Given the description of an element on the screen output the (x, y) to click on. 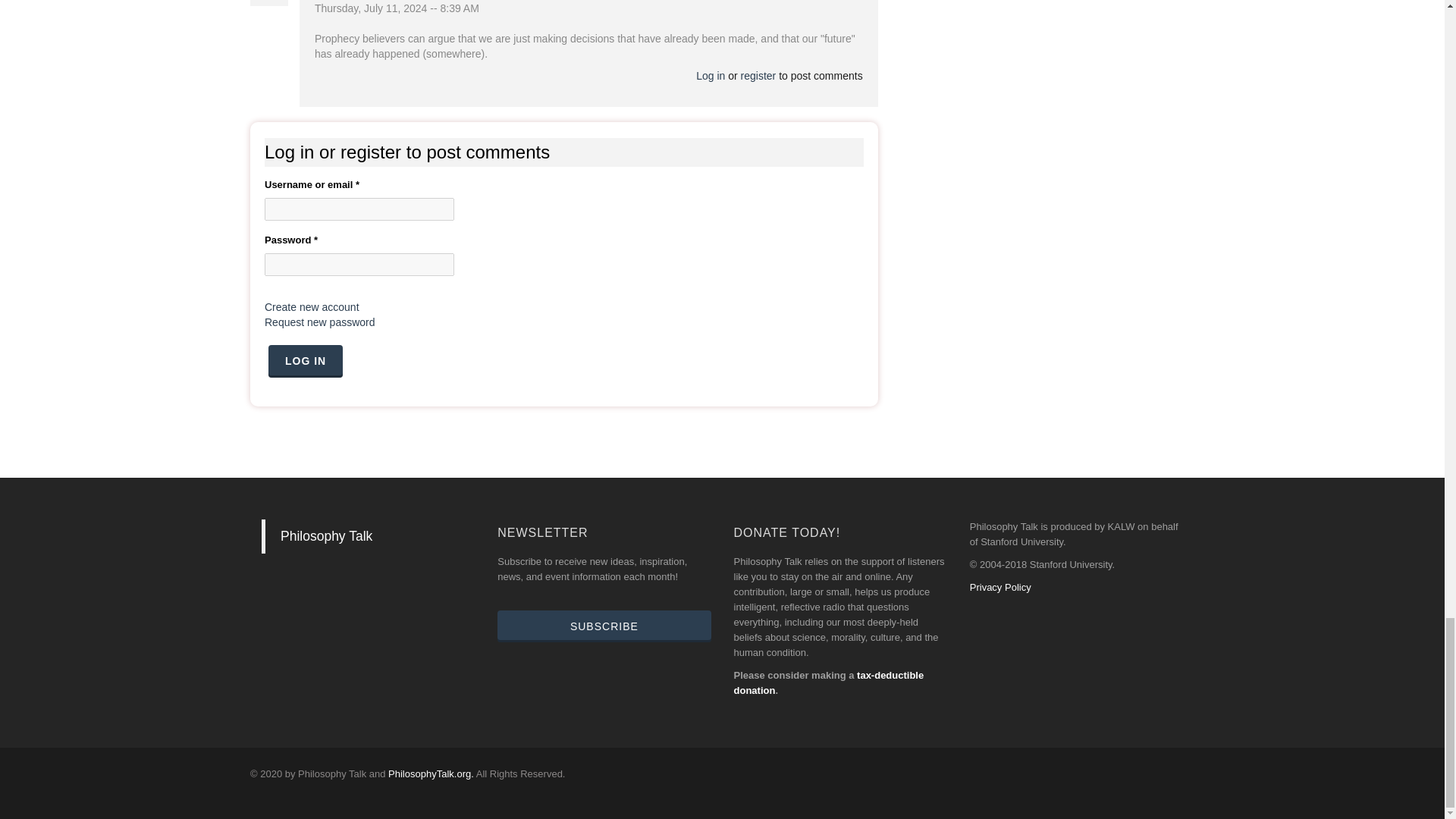
Create a new user account. (311, 306)
adammaurer's picture (269, 2)
Log in (304, 360)
Request new password via e-mail. (319, 322)
